Given the description of an element on the screen output the (x, y) to click on. 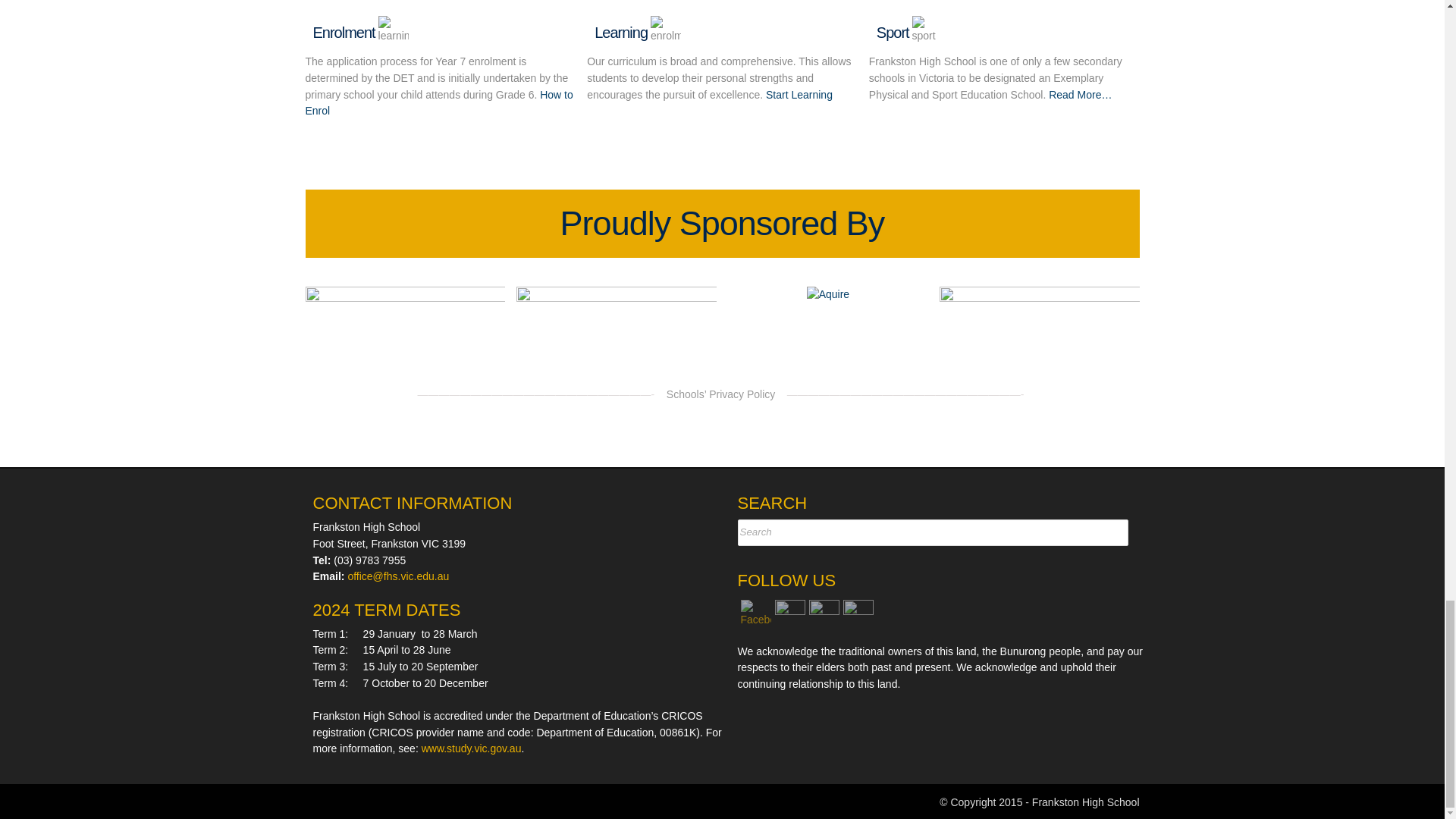
Search (807, 531)
